Given the description of an element on the screen output the (x, y) to click on. 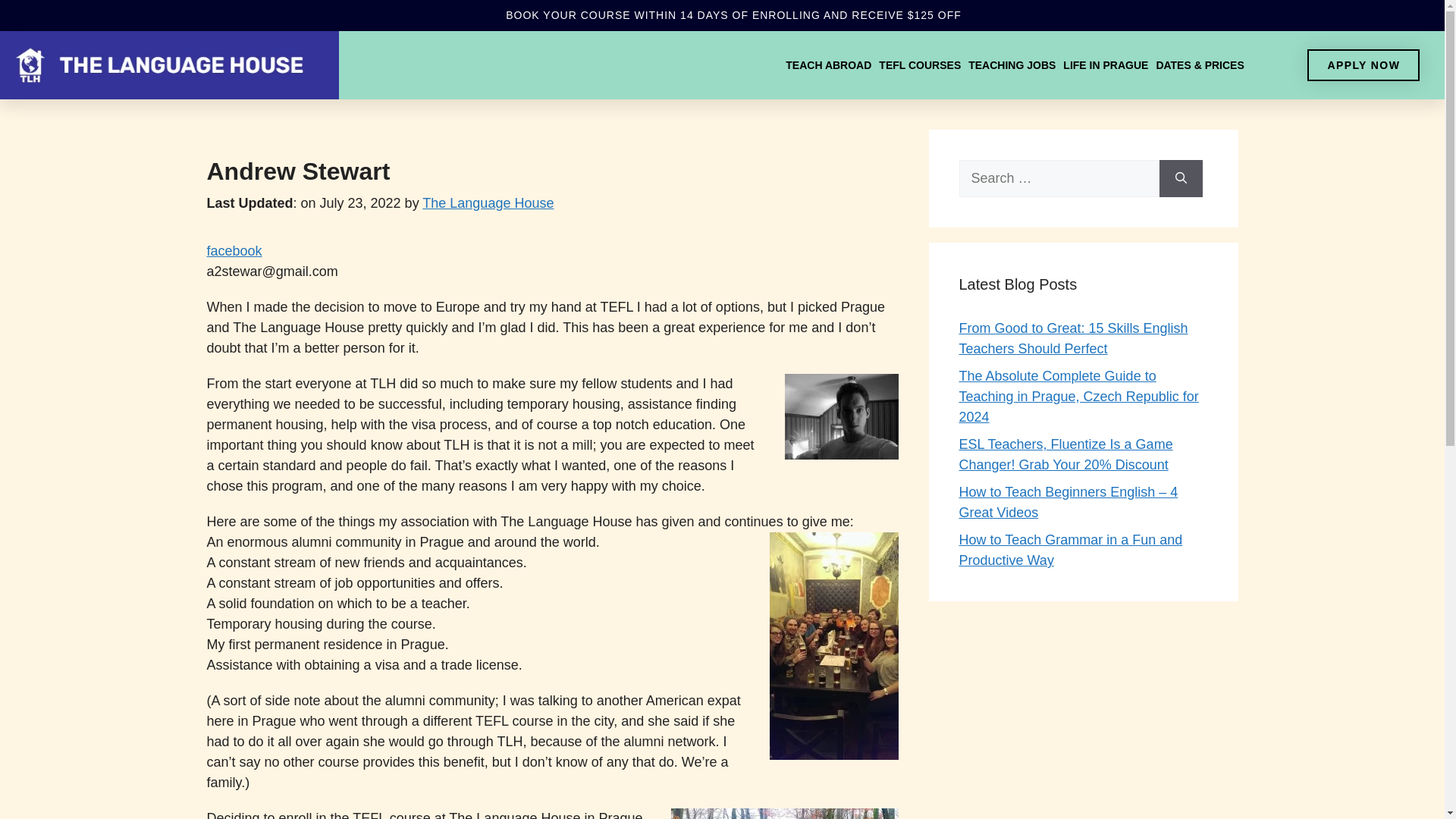
TEFL COURSES (919, 65)
TEACH ABROAD (828, 65)
TEACHING JOBS (1011, 65)
Search for: (1058, 178)
Andrew Stewart (234, 250)
LIFE IN PRAGUE (1105, 65)
